Given the description of an element on the screen output the (x, y) to click on. 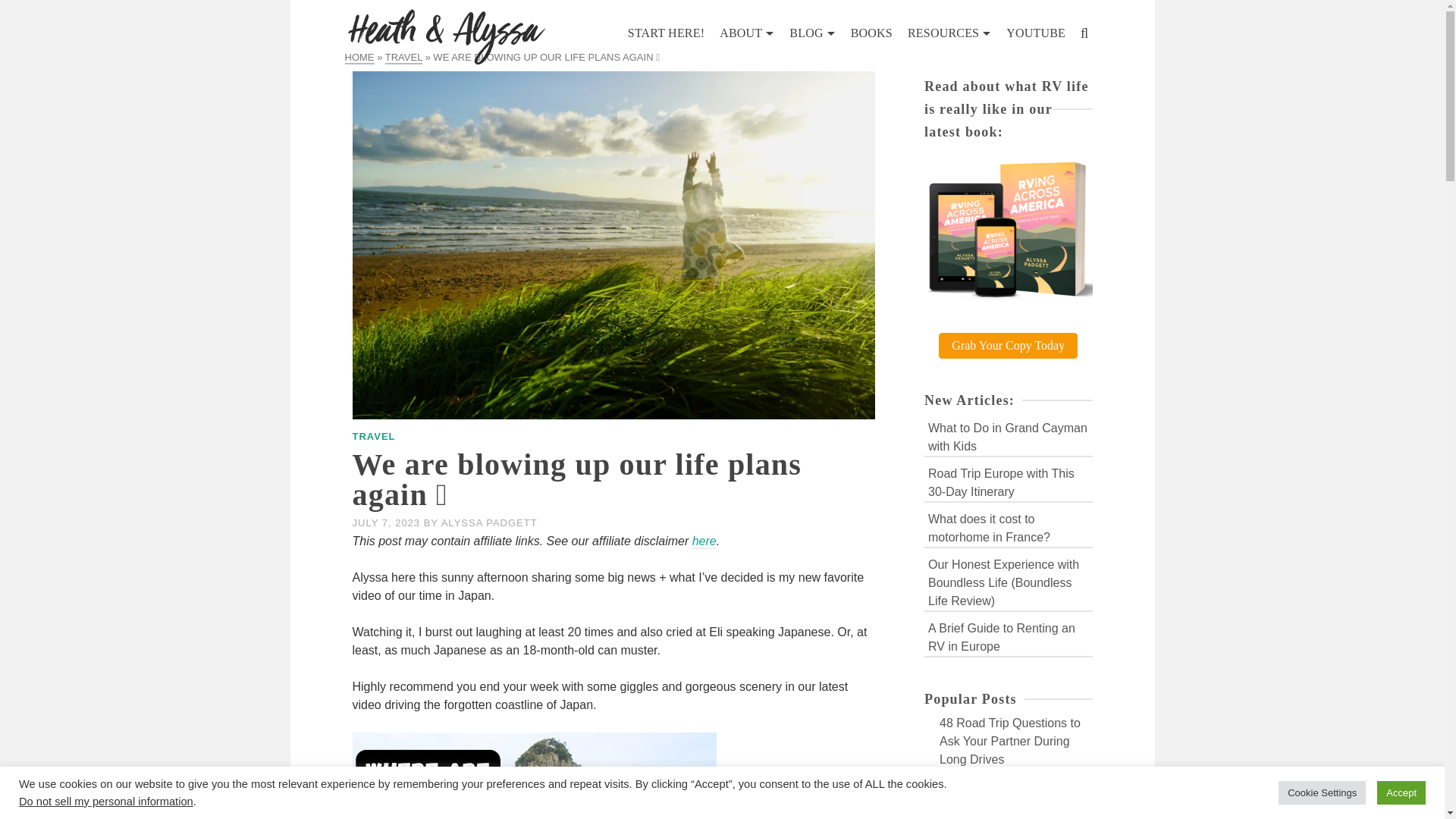
HOME (358, 57)
BOOKS (871, 32)
here (704, 541)
YOUTUBE (1035, 32)
TRAVEL (373, 436)
RESOURCES (948, 32)
ABOUT (746, 32)
BLOG (812, 32)
ALYSSA PADGETT (489, 522)
TRAVEL (403, 57)
START HERE! (665, 32)
